Given the description of an element on the screen output the (x, y) to click on. 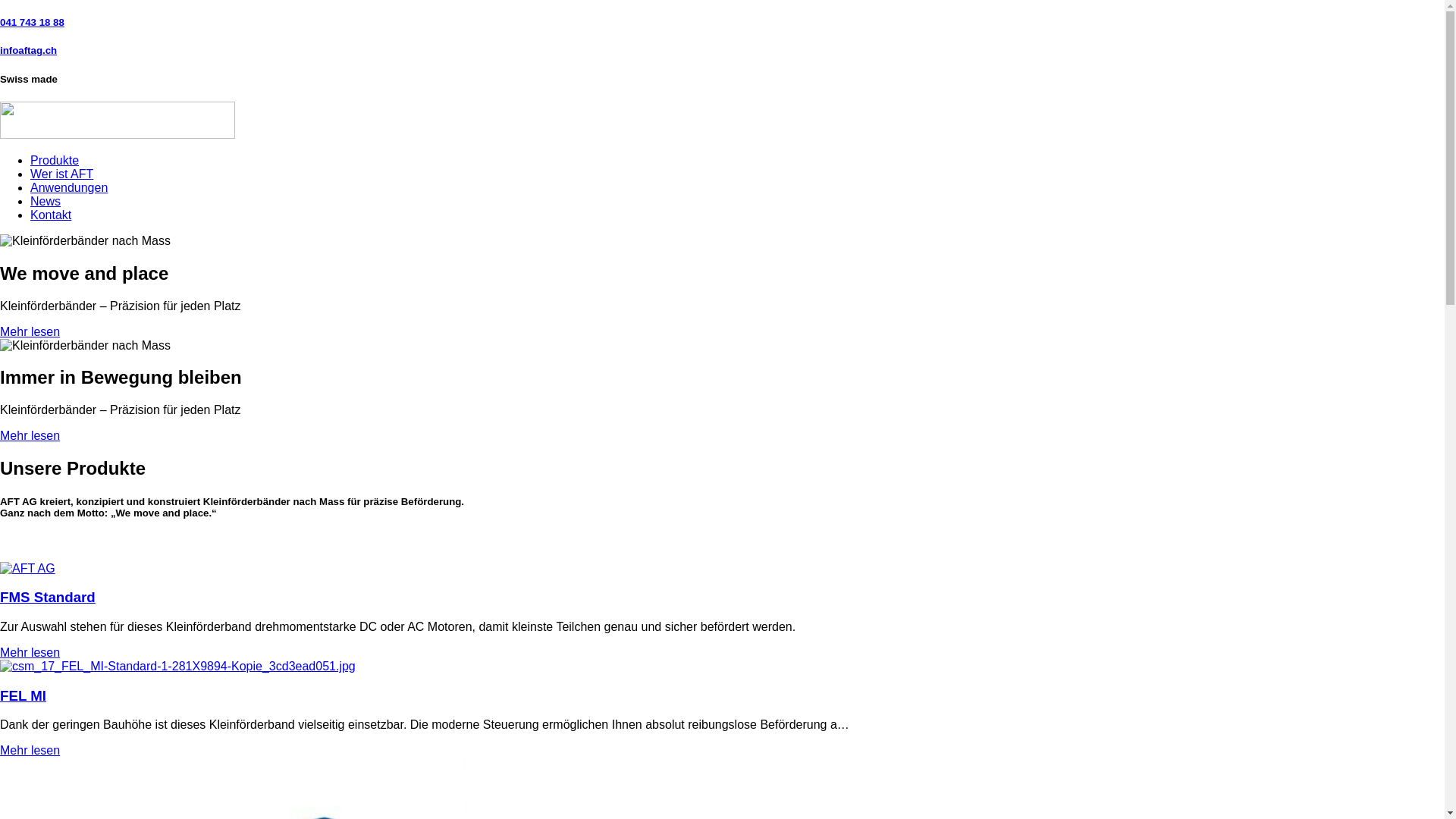
FEL MI Element type: text (23, 695)
Anwendungen Element type: text (68, 187)
News Element type: text (45, 200)
 FEL MI Element type: hover (177, 666)
FMS Standard Element type: hover (27, 567)
Mehr lesen Element type: text (29, 749)
Mehr lesen Element type: text (29, 435)
Kontakt Element type: text (50, 214)
Produkte Element type: text (54, 159)
 FMS Standard Element type: hover (27, 568)
041 743 18 88 Element type: text (32, 22)
Mehr lesen Element type: text (29, 330)
Wer ist AFT Element type: text (61, 173)
FEL MI Element type: hover (177, 665)
infoaftag.ch Element type: text (28, 50)
AFT AG Element type: hover (85, 240)
FMS Standard Element type: text (47, 597)
AFT AG Element type: hover (85, 344)
Mehr lesen Element type: text (29, 652)
